Given the description of an element on the screen output the (x, y) to click on. 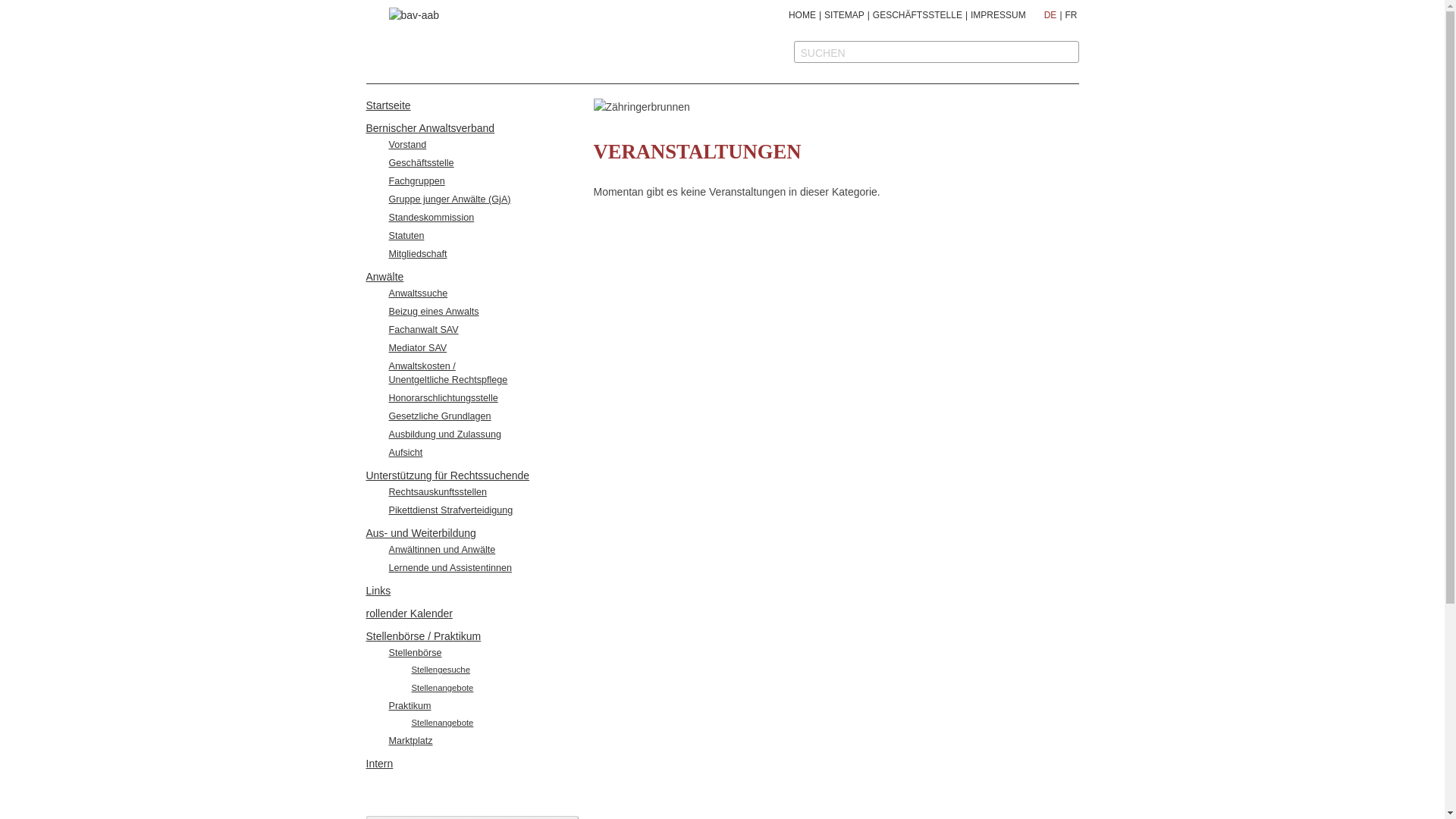
HOME Element type: text (801, 14)
Fachanwalt SAV Element type: text (423, 329)
Anwaltskosten /
Unentgeltliche Rechtspflege Element type: text (447, 372)
rollender Kalender Element type: text (408, 613)
Rechtsauskunftsstellen Element type: text (437, 491)
Gesetzliche Grundlagen Element type: text (439, 416)
SITEMAP Element type: text (844, 14)
Mediator SAV Element type: text (417, 347)
Aus- und Weiterbildung Element type: text (420, 533)
Marktplatz Element type: text (410, 740)
Pikettdienst Strafverteidigung Element type: text (450, 510)
Anwaltssuche Element type: text (417, 293)
Links Element type: text (377, 590)
Statuten Element type: text (405, 235)
Vorstand Element type: text (407, 144)
Lernende und Assistentinnen Element type: text (449, 567)
Stellenangebote Element type: text (442, 722)
Intern Element type: text (378, 763)
Bernischer Anwaltsverband Element type: text (429, 128)
Standeskommission Element type: text (430, 217)
Honorarschlichtungsstelle Element type: text (442, 397)
Stellenangebote Element type: text (442, 687)
Beizug eines Anwalts Element type: text (433, 311)
Mitgliedschaft Element type: text (417, 253)
FR Element type: text (1070, 14)
Fachgruppen Element type: text (416, 180)
Aufsicht Element type: text (405, 452)
IMPRESSUM Element type: text (998, 14)
Stellengesuche Element type: text (440, 669)
Startseite Element type: text (387, 105)
Ausbildung und Zulassung Element type: text (444, 434)
Praktikum Element type: text (409, 705)
DE Element type: text (1050, 14)
